Given the description of an element on the screen output the (x, y) to click on. 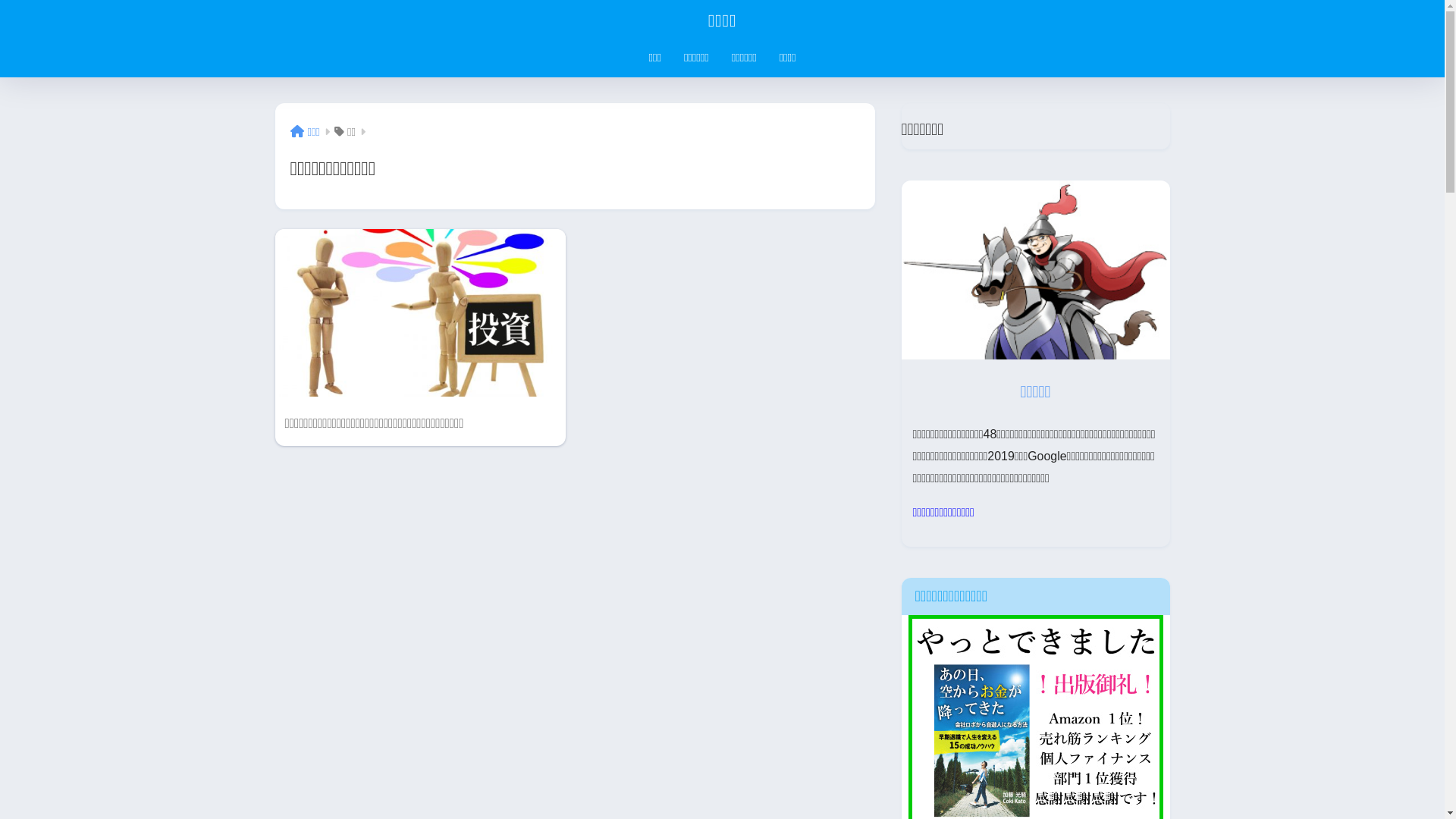
on Element type: text (4, 4)
